Given the description of an element on the screen output the (x, y) to click on. 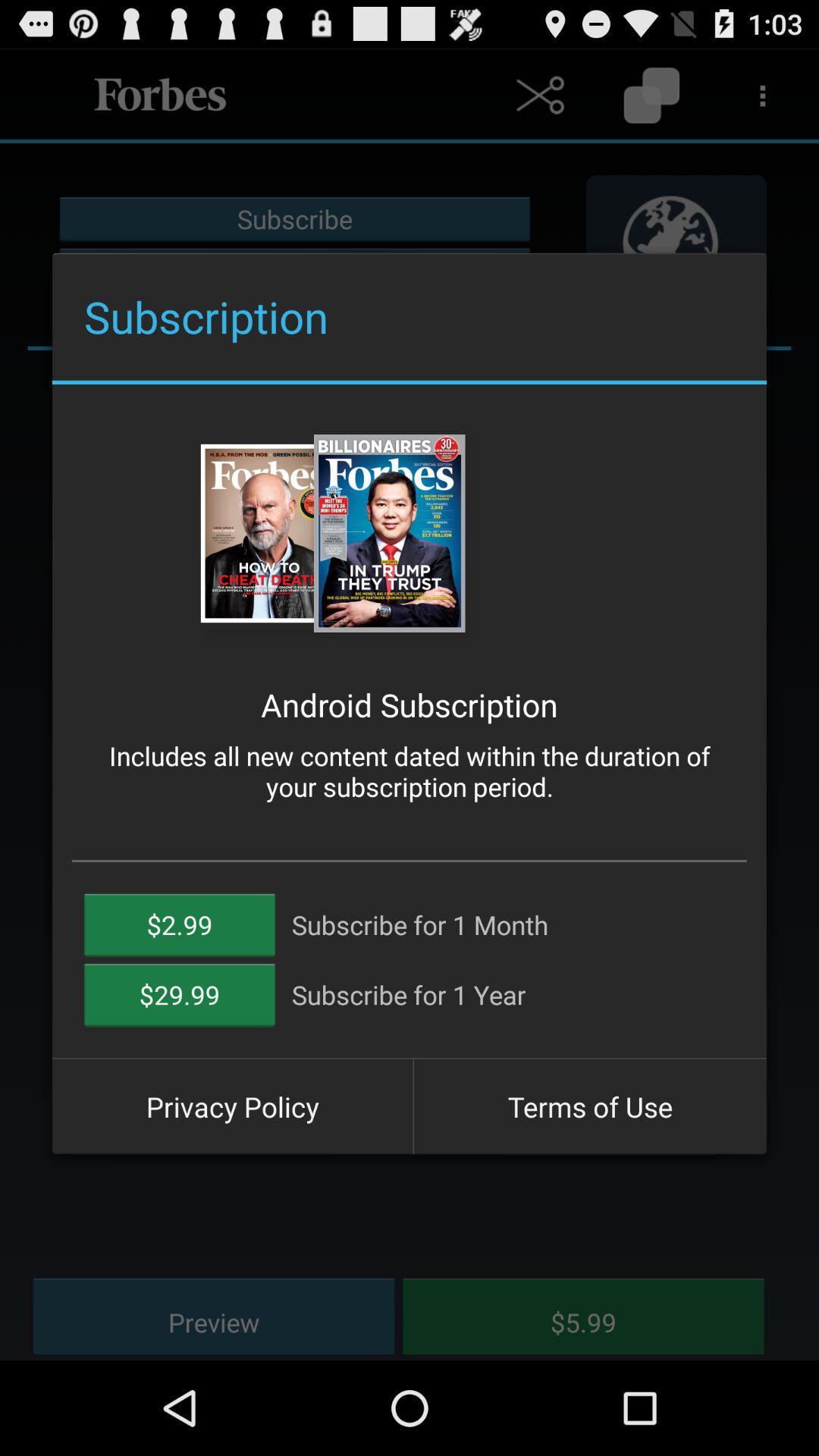
tap the terms of use (590, 1106)
